Given the description of an element on the screen output the (x, y) to click on. 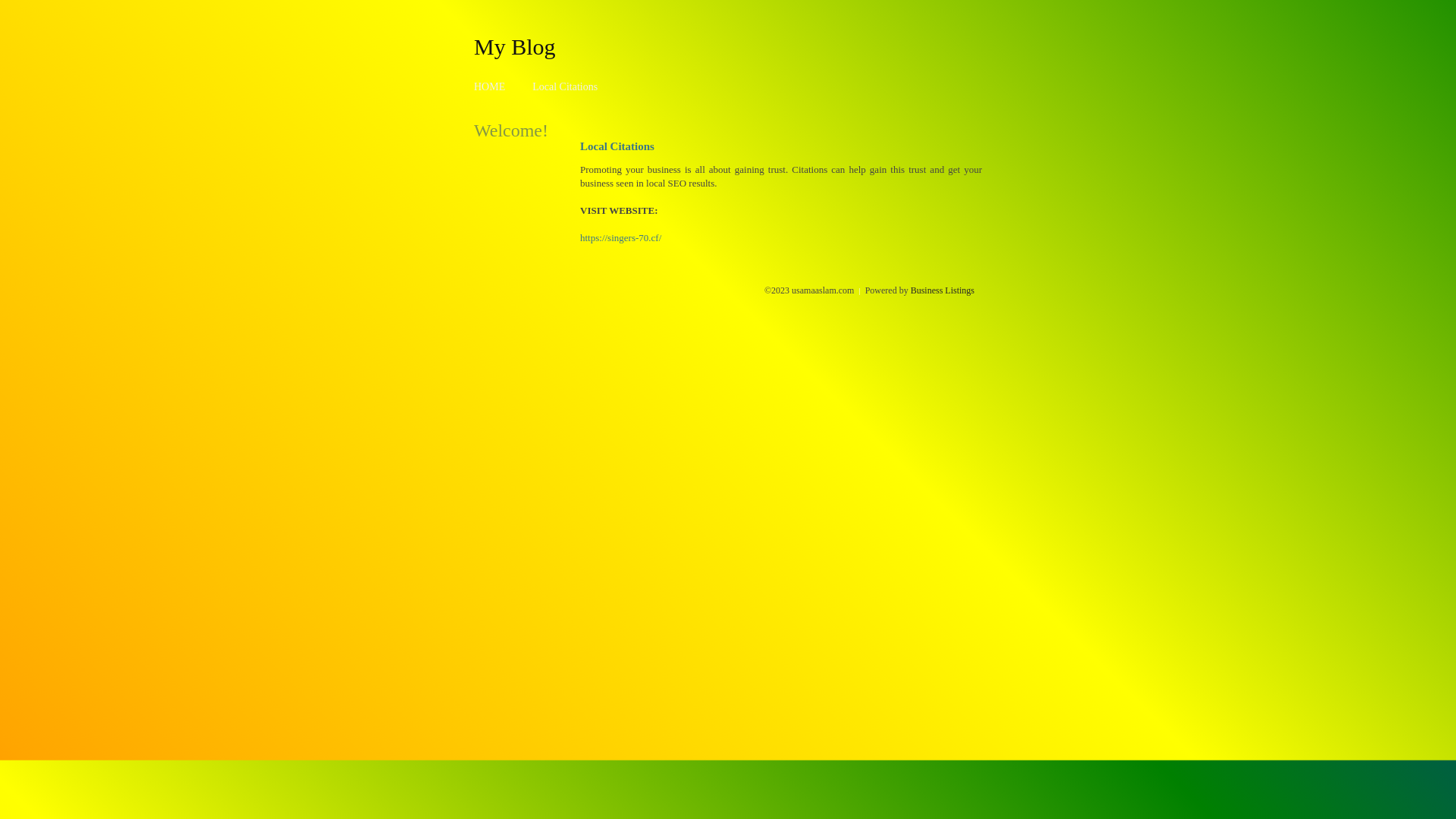
My Blog Element type: text (514, 46)
Local Citations Element type: text (564, 86)
HOME Element type: text (489, 86)
Business Listings Element type: text (942, 290)
https://singers-70.cf/ Element type: text (620, 237)
